Given the description of an element on the screen output the (x, y) to click on. 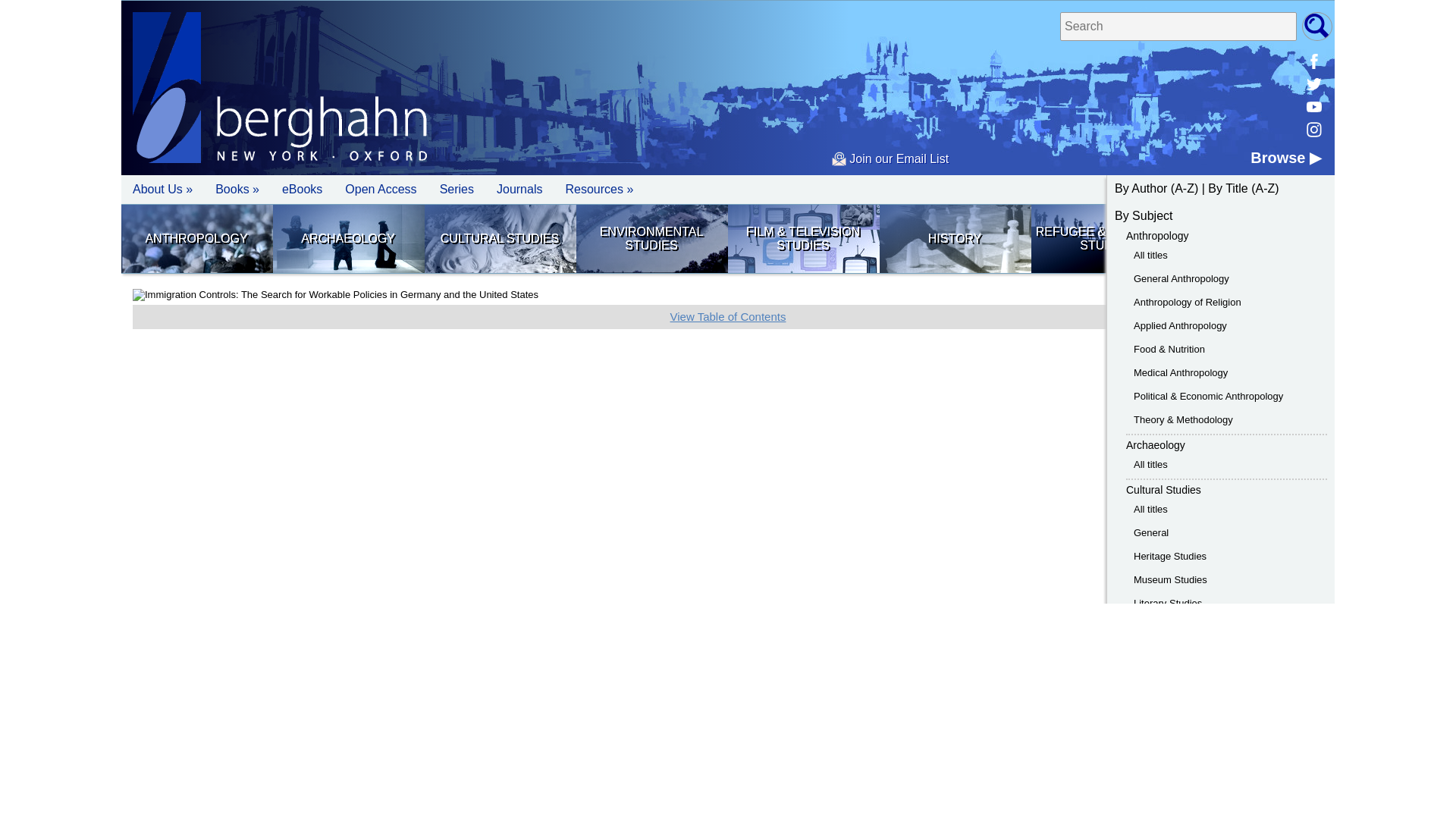
Browse (1285, 157)
Berghahn Books on Facebook (1313, 60)
All titles (1150, 464)
Anthropology of Religion (1187, 301)
Berghahn Books on Instagram (1313, 128)
Join our Email List (890, 158)
History (954, 238)
Anthropology (195, 238)
By Subject (1143, 215)
go (1316, 26)
All titles (1150, 255)
General (1151, 532)
Cultural Studies (1163, 490)
Anthropology (1157, 235)
Applied Anthropology (1180, 325)
